Given the description of an element on the screen output the (x, y) to click on. 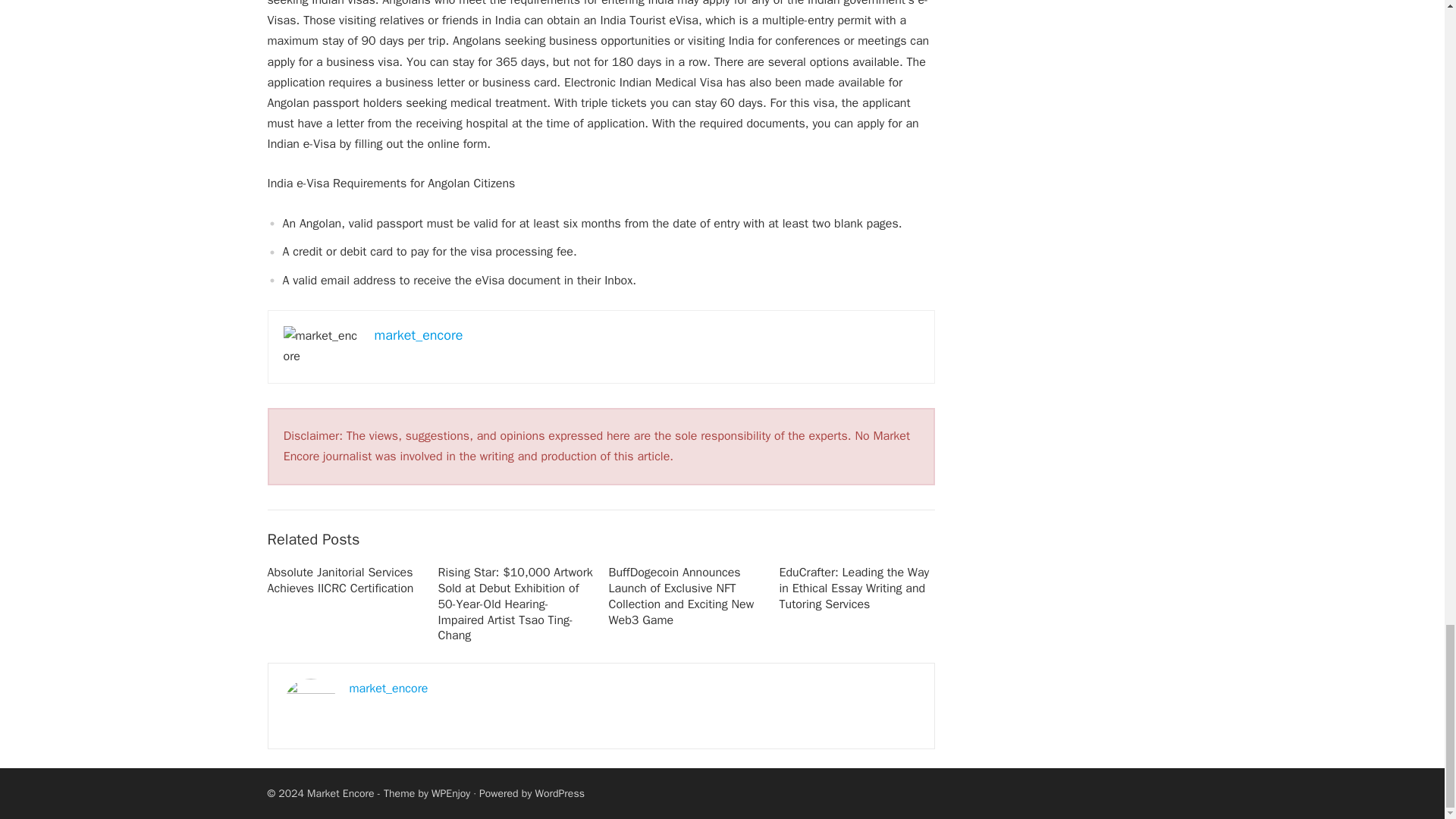
Absolute Janitorial Services Achieves IICRC Certification (339, 580)
